Given the description of an element on the screen output the (x, y) to click on. 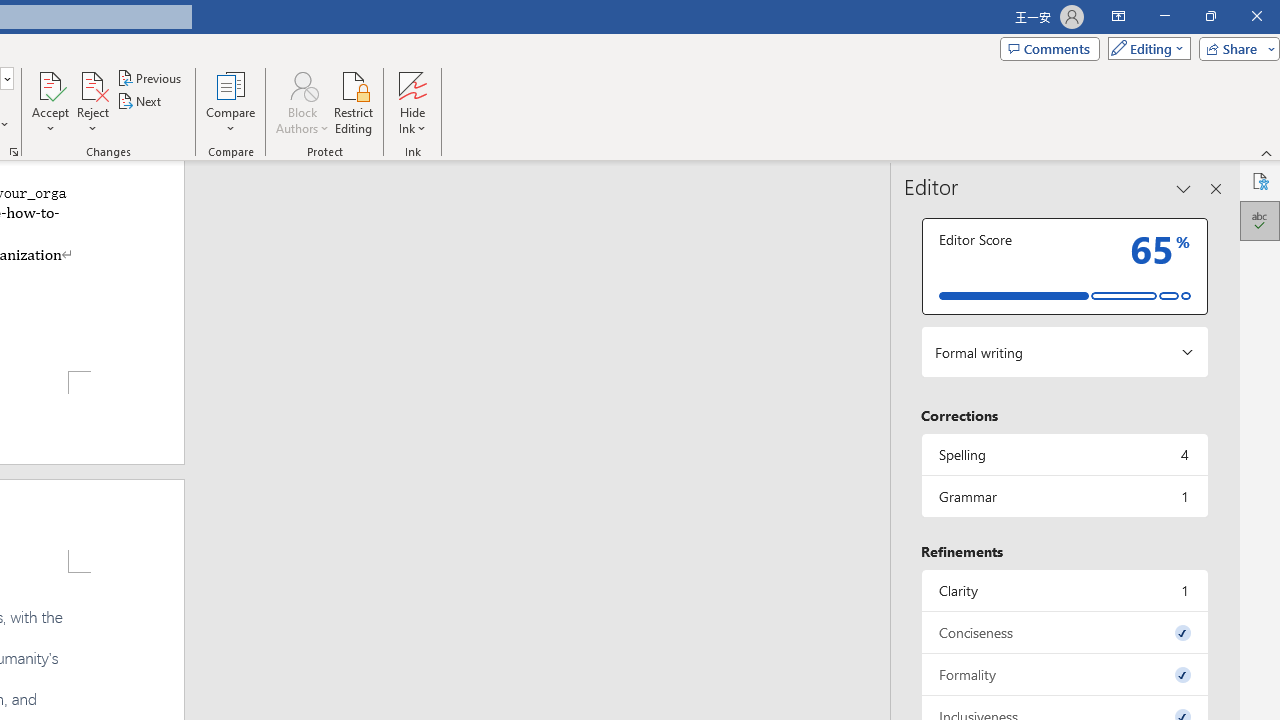
Next (140, 101)
Change Tracking Options... (13, 151)
Previous (150, 78)
Block Authors (302, 84)
Accept (50, 102)
Accept and Move to Next (50, 84)
Conciseness, 0 issues. Press space or enter to review items. (1064, 632)
Accessibility (1260, 180)
